Given the description of an element on the screen output the (x, y) to click on. 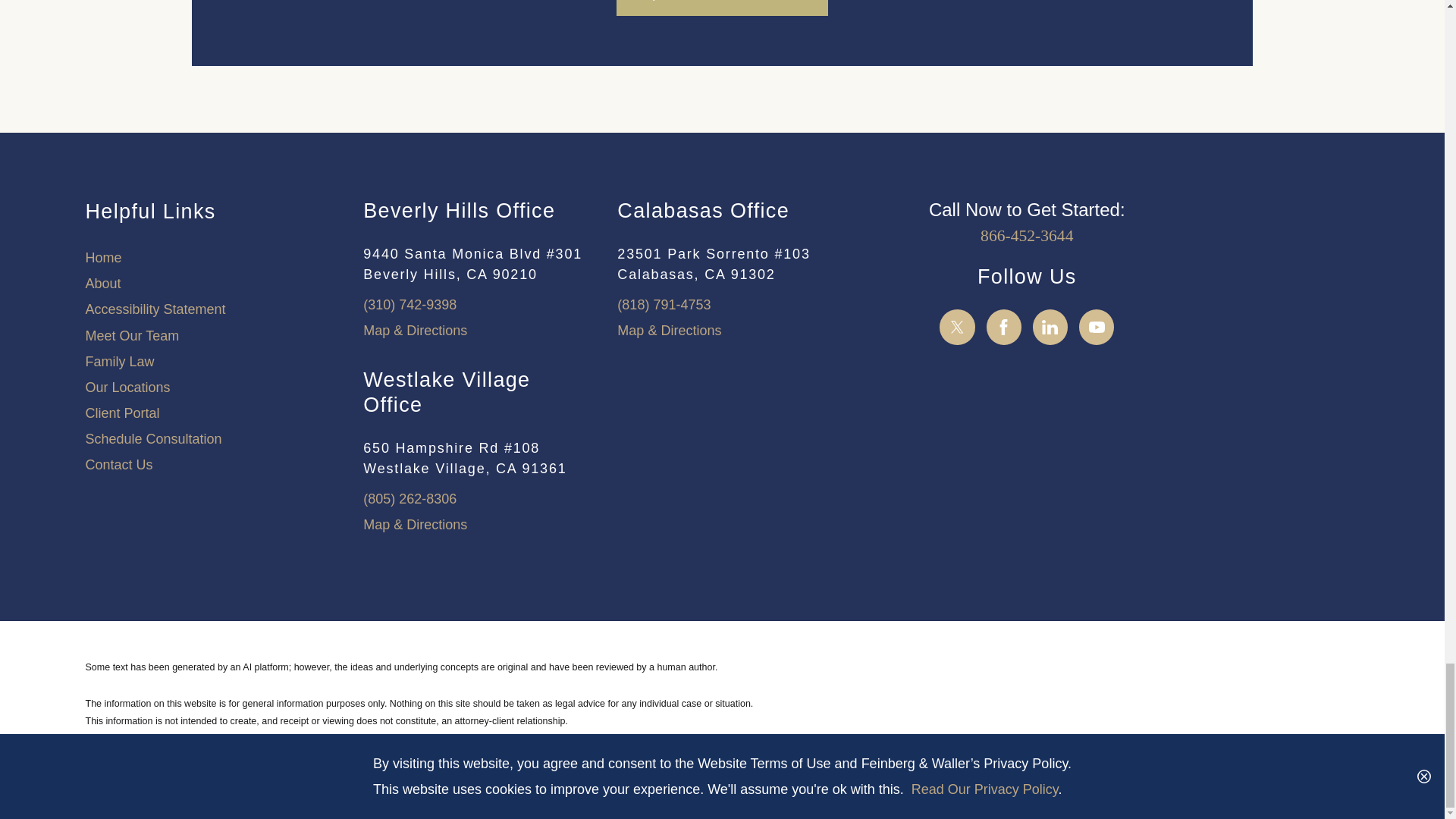
Facebook (1003, 326)
YouTube (1097, 326)
Twitter (957, 326)
LinkedIn (1050, 326)
